Given the description of an element on the screen output the (x, y) to click on. 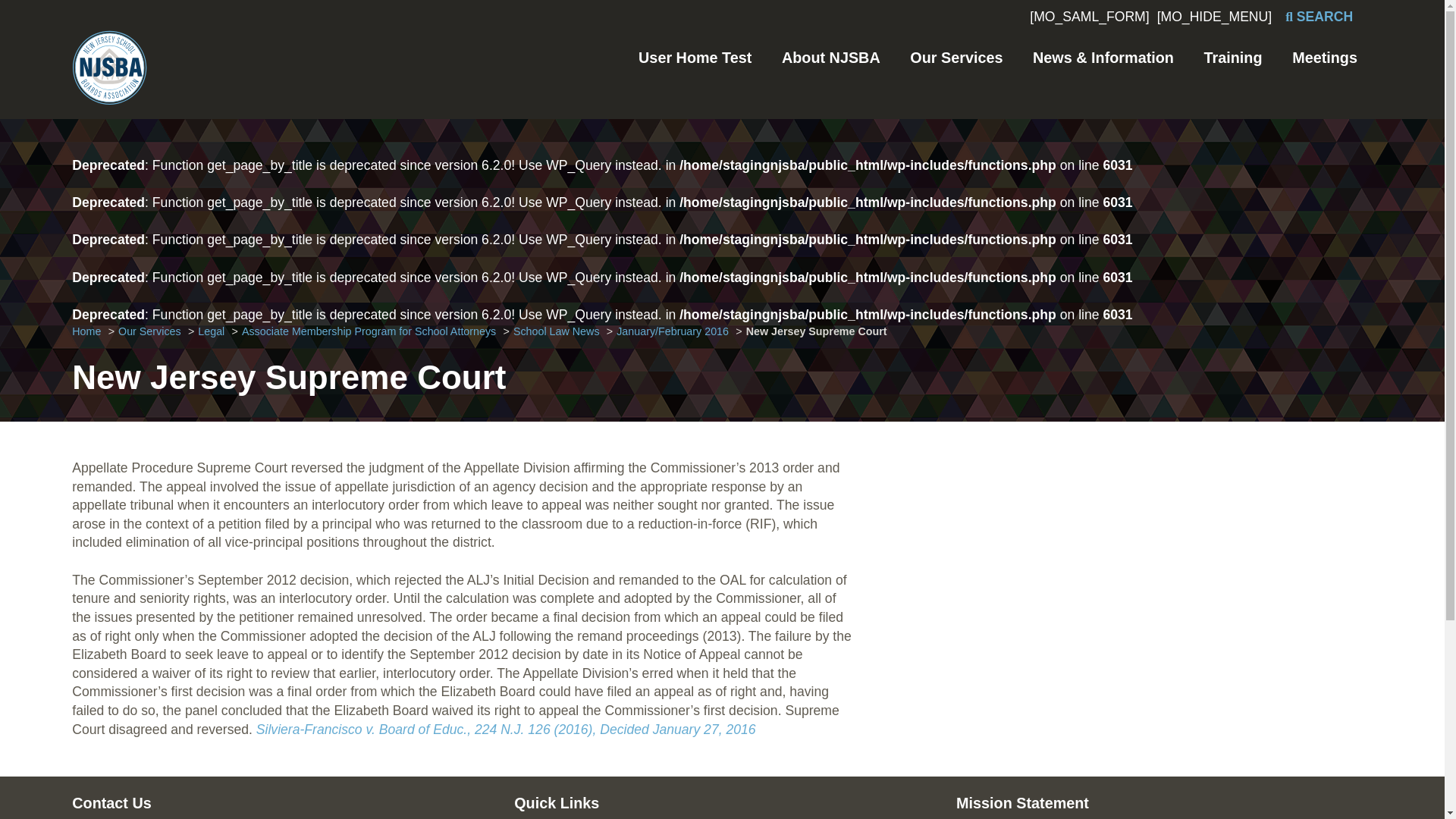
NJSBA Home (109, 73)
SEARCH (1318, 17)
Our Services (956, 57)
About NJSBA (831, 57)
User Home Test (695, 57)
